Given the description of an element on the screen output the (x, y) to click on. 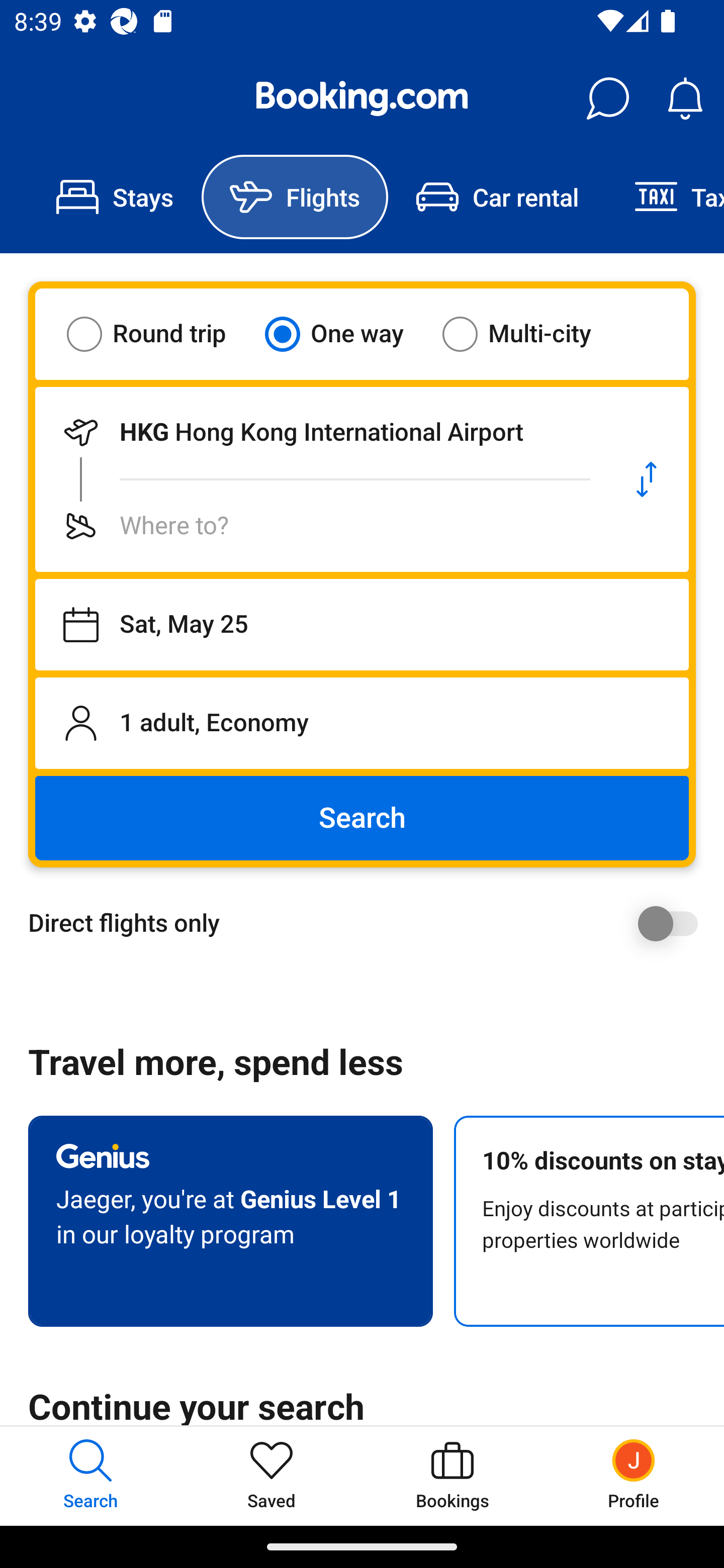
Messages (607, 98)
Notifications (685, 98)
Stays (114, 197)
Flights (294, 197)
Car rental (497, 197)
Taxi (665, 197)
Round trip (158, 333)
Multi-city (528, 333)
Departing from HKG Hong Kong International Airport (319, 432)
Swap departure location and destination (646, 479)
Flying to  (319, 525)
Departing on Sat, May 25 (361, 624)
1 adult, Economy (361, 722)
Search (361, 818)
Direct flights only (369, 923)
Saved (271, 1475)
Bookings (452, 1475)
Profile (633, 1475)
